Given the description of an element on the screen output the (x, y) to click on. 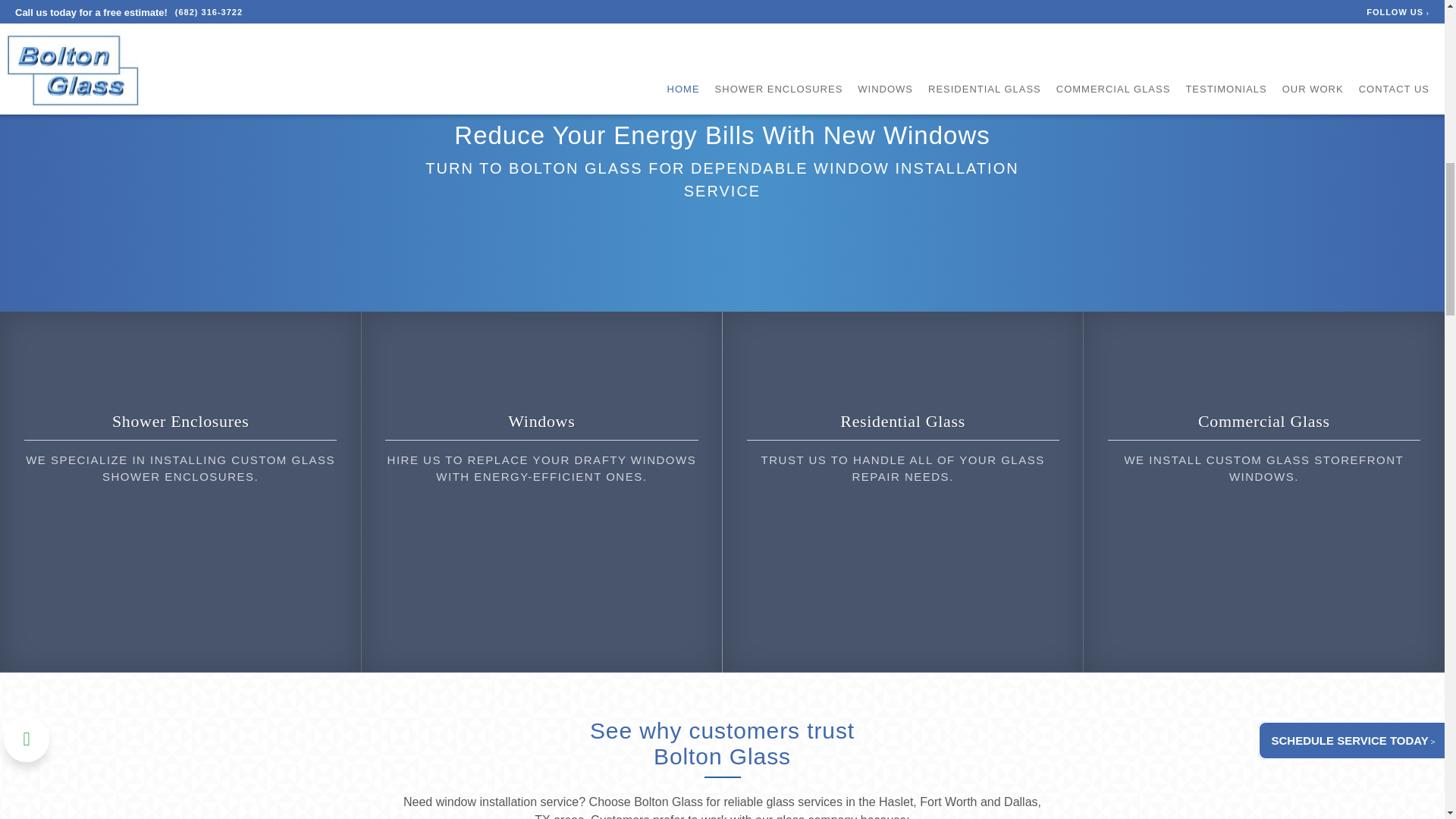
Shower Enclosures (180, 420)
Commercial Glass (1264, 420)
Residential Glass (902, 420)
Windows (541, 420)
